Given the description of an element on the screen output the (x, y) to click on. 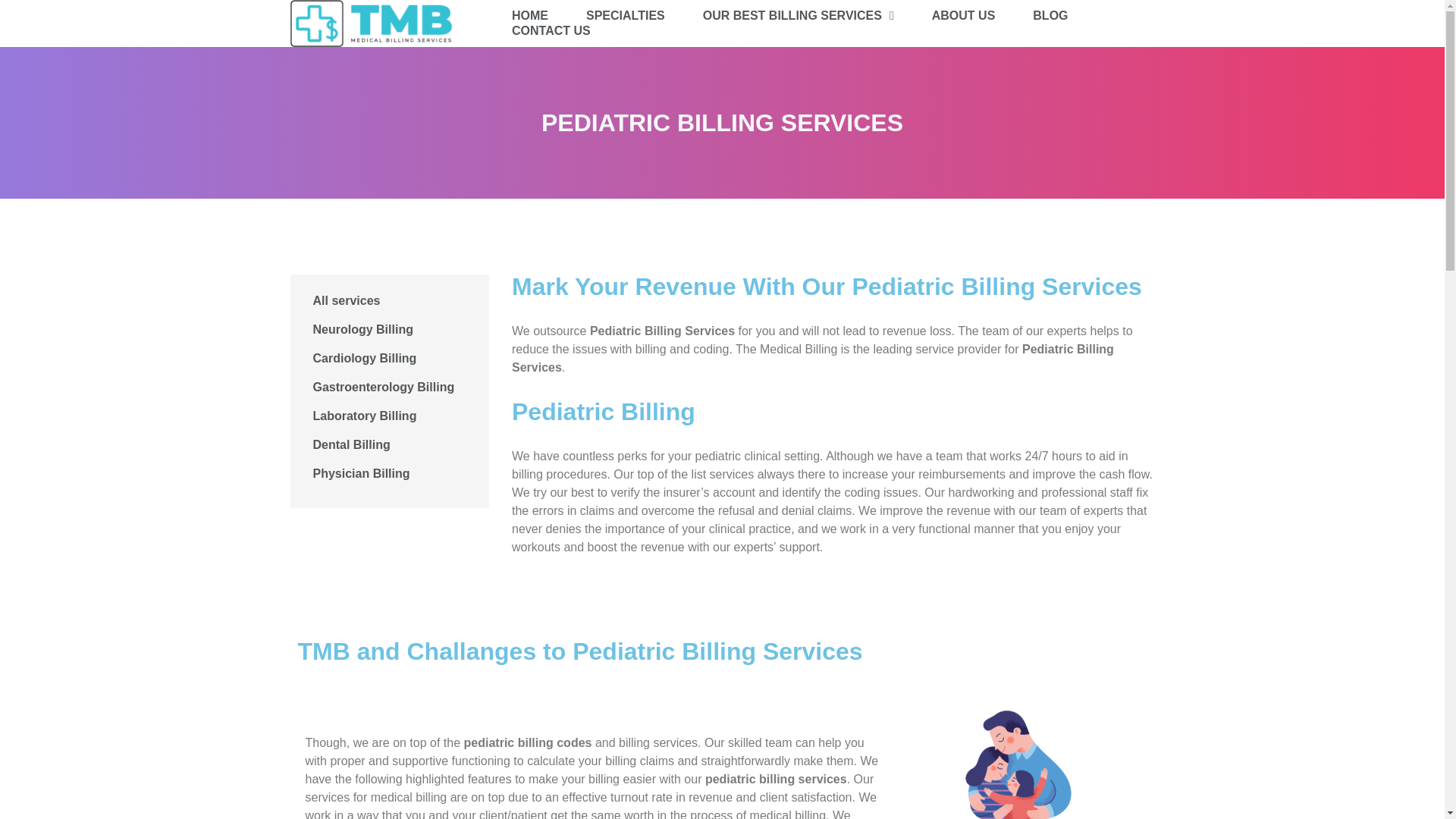
BLOG (1049, 15)
Laboratory Billing (389, 416)
ABOUT US (963, 15)
All services (389, 300)
Cardiology Billing (389, 358)
Dental Billing (389, 444)
Gastroenterology Billing (389, 387)
OUR BEST BILLING SERVICES (798, 15)
CONTACT US (551, 30)
SPECIALTIES (625, 15)
Neurology Billing (389, 329)
HOME (530, 15)
Physician Billing (389, 473)
